Given the description of an element on the screen output the (x, y) to click on. 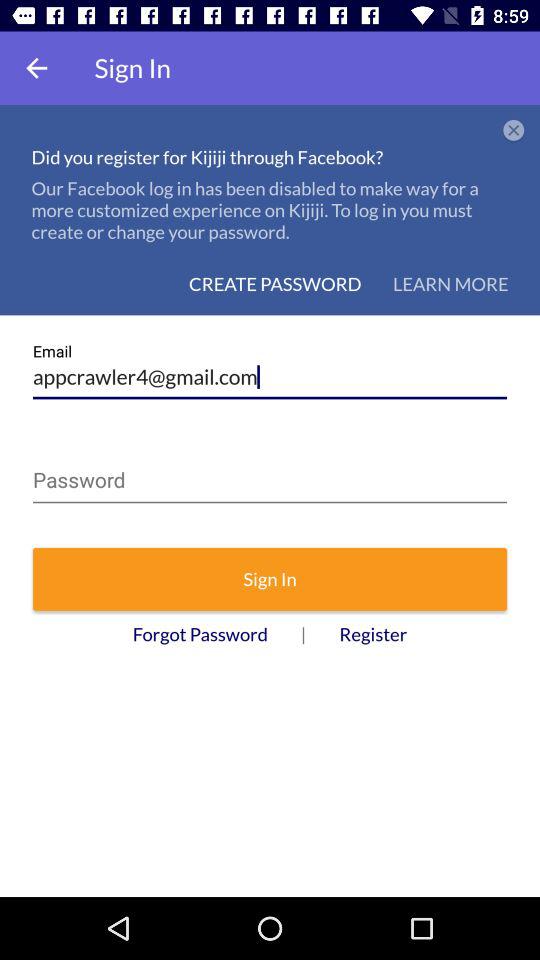
select the item next to sign in icon (36, 68)
